Given the description of an element on the screen output the (x, y) to click on. 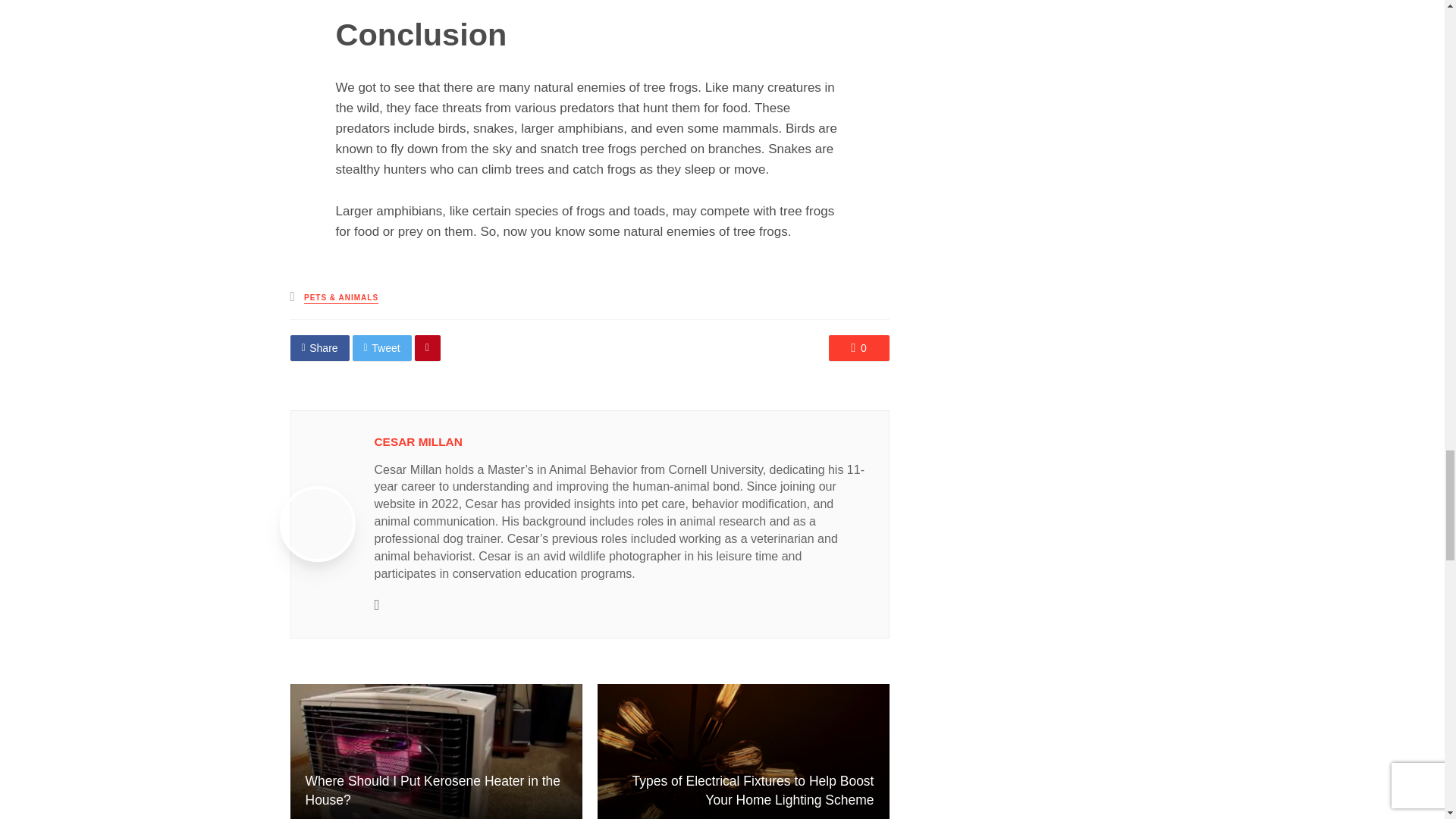
Tweet (382, 347)
Share (319, 347)
Posts by Cesar Millan (418, 440)
